Given the description of an element on the screen output the (x, y) to click on. 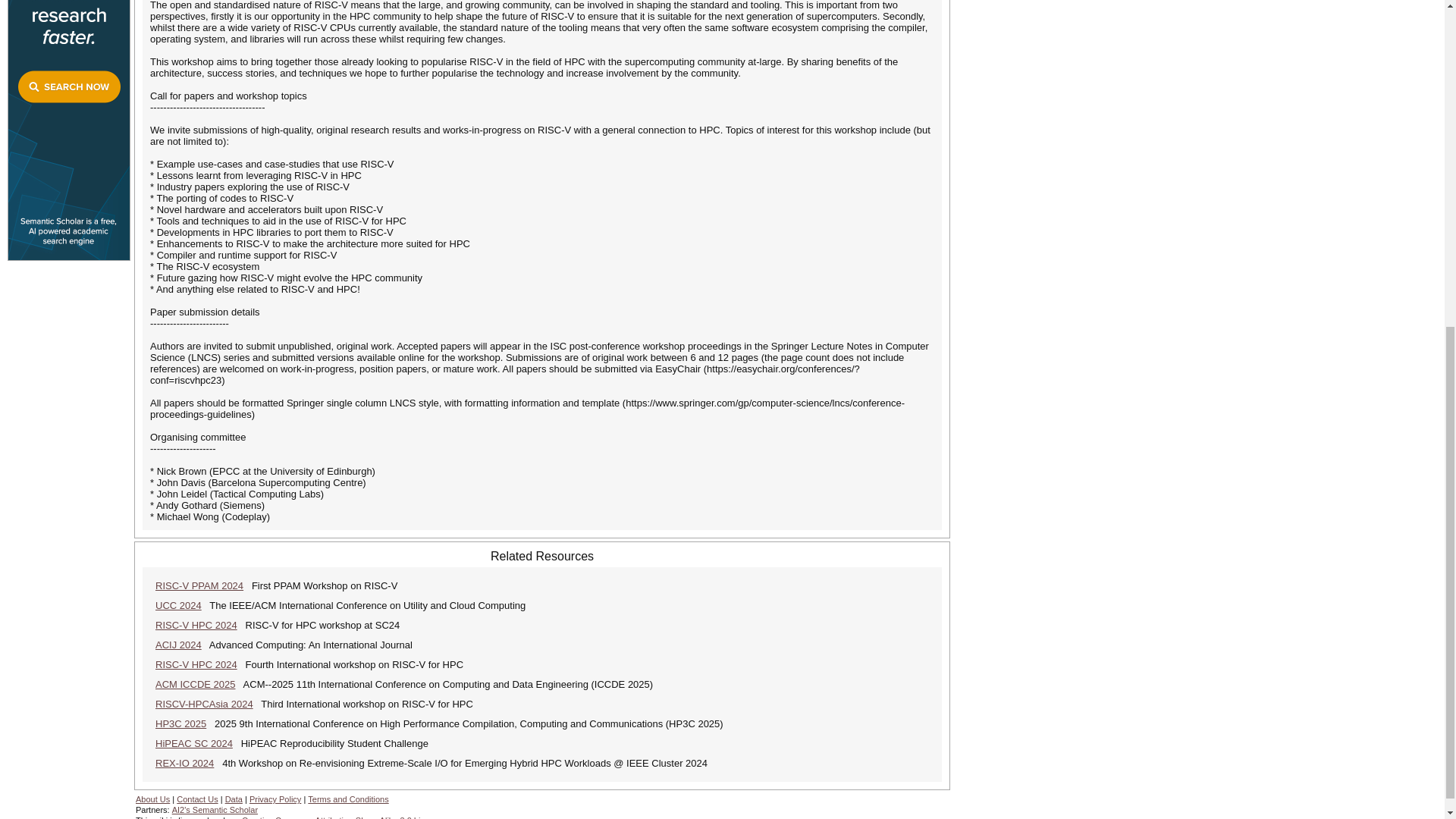
UCC 2024 (178, 604)
RISC-V HPC 2024 (196, 664)
RISC-V PPAM 2024 (199, 585)
ACIJ 2024 (178, 644)
RISC-V HPC 2024 (196, 624)
